Given the description of an element on the screen output the (x, y) to click on. 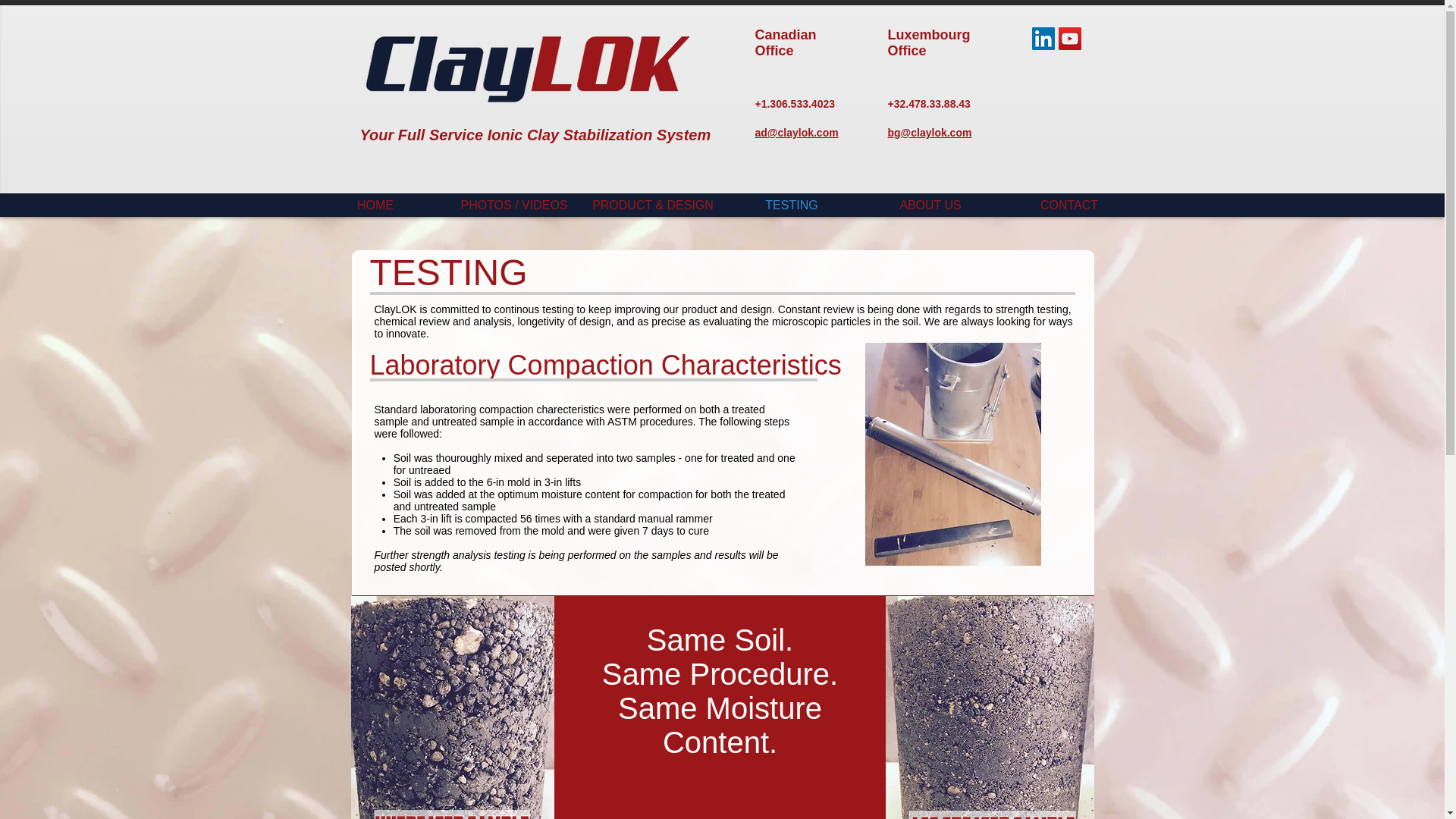
HOME (375, 205)
ClayLOK Logo TRSP Sep 26-19.png (526, 68)
TESTING (791, 205)
Canadian (785, 34)
CONTACT (1068, 205)
Luxembourg (927, 34)
